Given the description of an element on the screen output the (x, y) to click on. 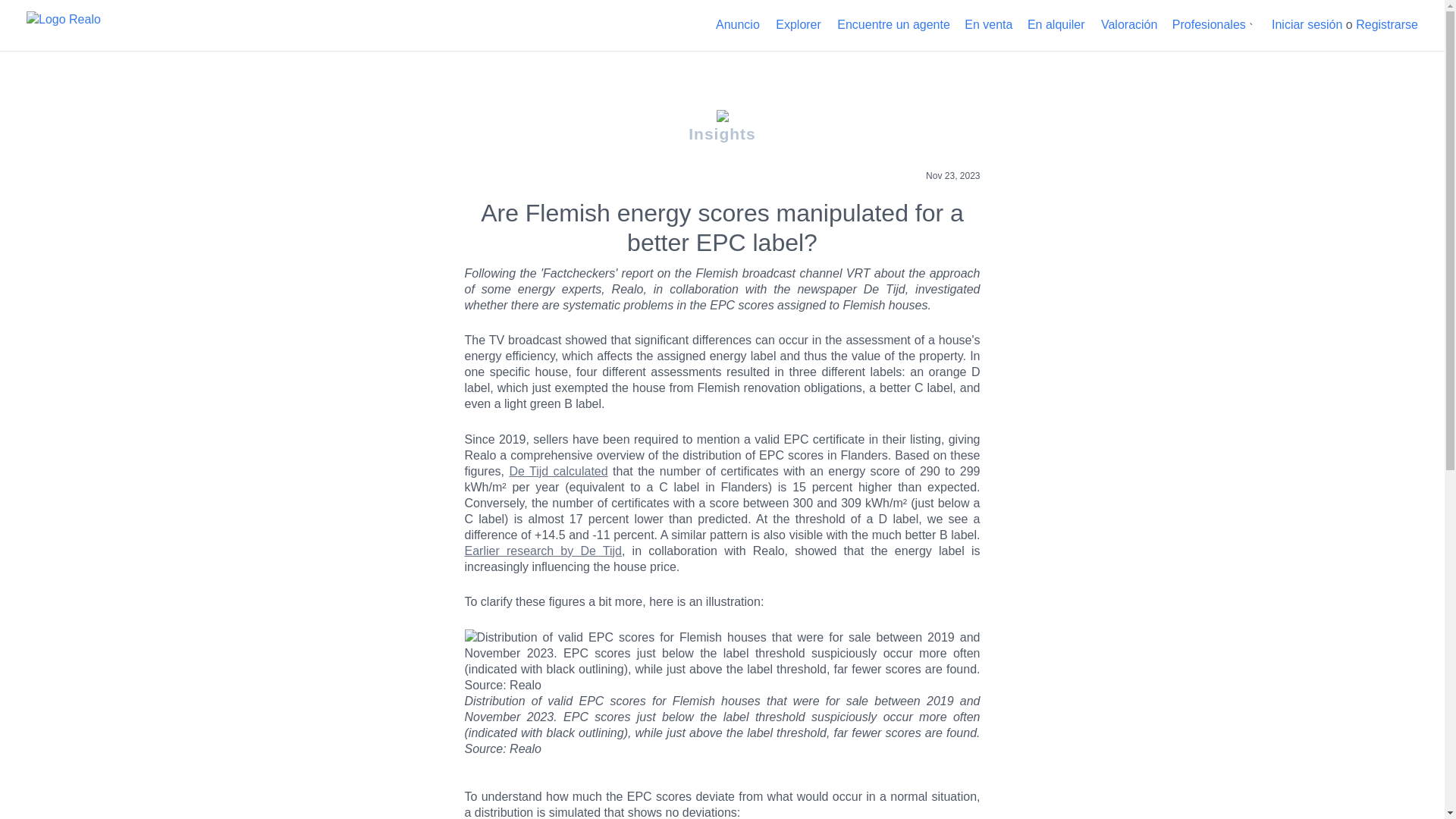
Explorer (798, 24)
Insights (721, 126)
En venta (987, 24)
Profesionales (1209, 24)
Encuentre un agente (893, 24)
De Tijd calculated (557, 471)
Realo (63, 23)
Anuncio (738, 24)
En alquiler (1055, 24)
Earlier research by De Tijd (542, 550)
